Given the description of an element on the screen output the (x, y) to click on. 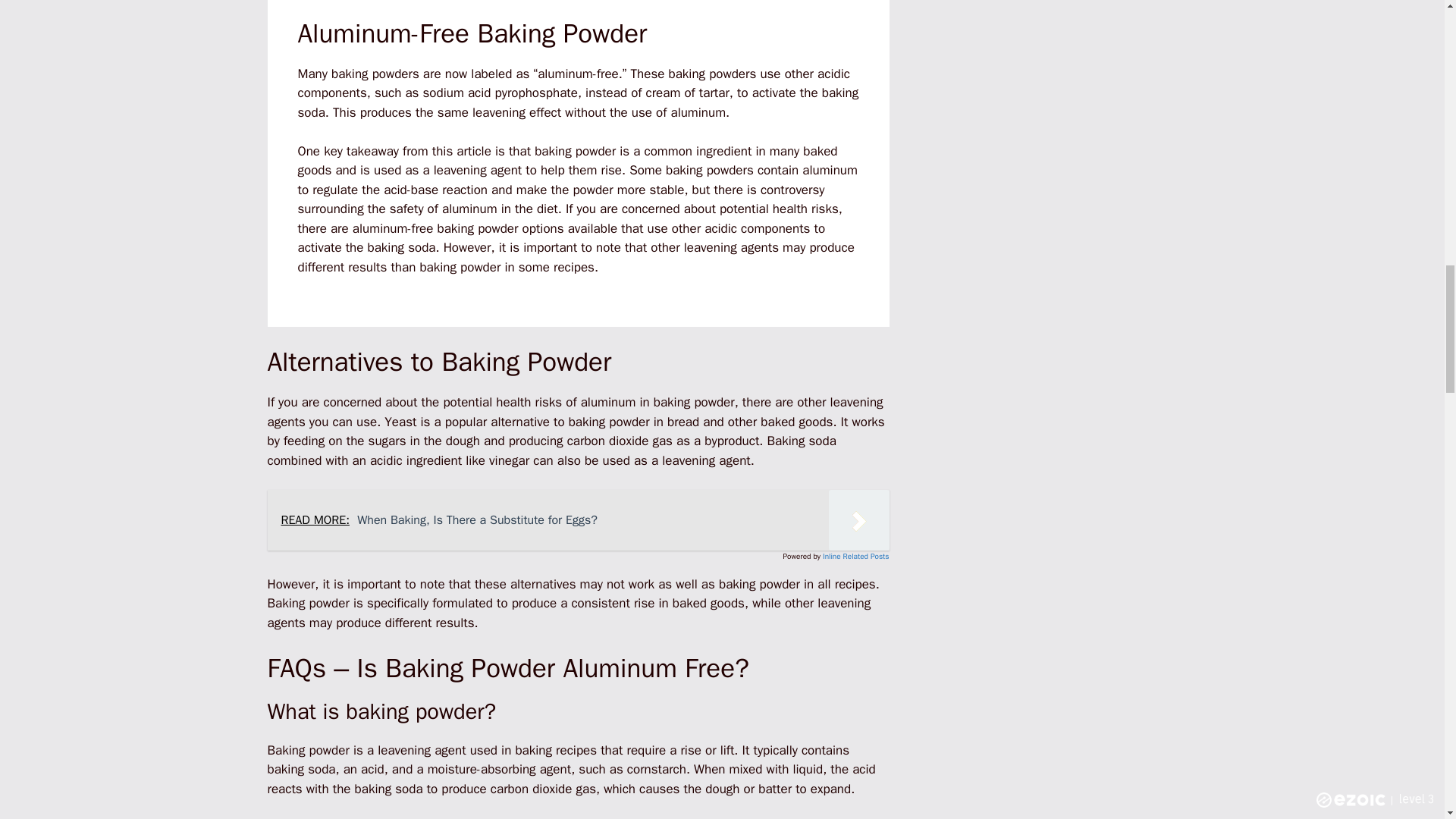
READ MORE:  When Baking, Is There a Substitute for Eggs? (577, 519)
Inline Related Posts (855, 556)
